Given the description of an element on the screen output the (x, y) to click on. 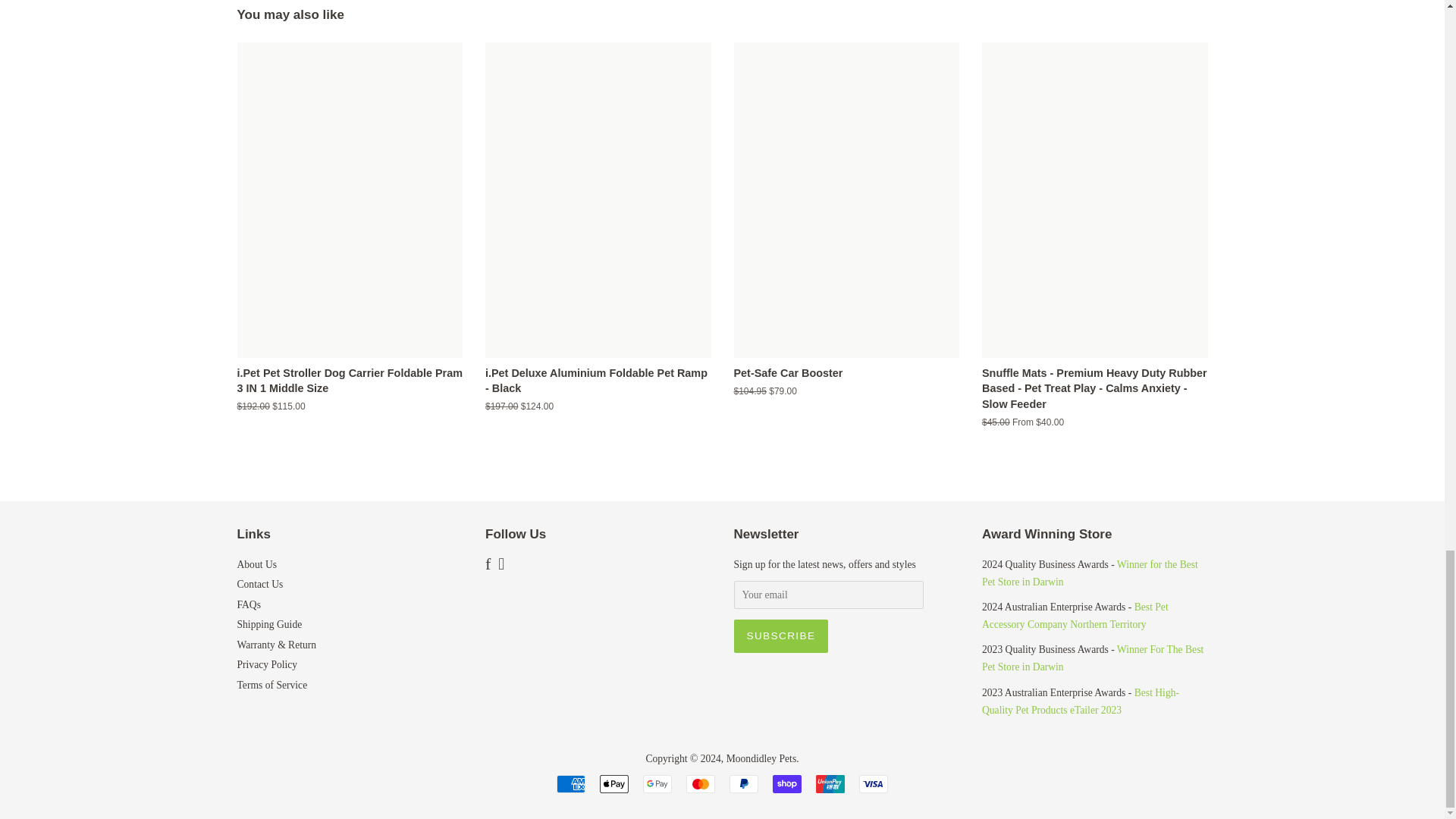
Subscribe (780, 635)
PayPal (743, 783)
Winner For The Best Pet Store in Darwin  (1092, 657)
Shop Pay (787, 783)
Best High-Quality Pet Products eTailer 2023 (1080, 700)
American Express (570, 783)
Visa (873, 783)
Mastercard (699, 783)
Winner for the Best Pet Store in Darwin (1089, 573)
Apple Pay (613, 783)
Union Pay (829, 783)
Google Pay (657, 783)
